Given the description of an element on the screen output the (x, y) to click on. 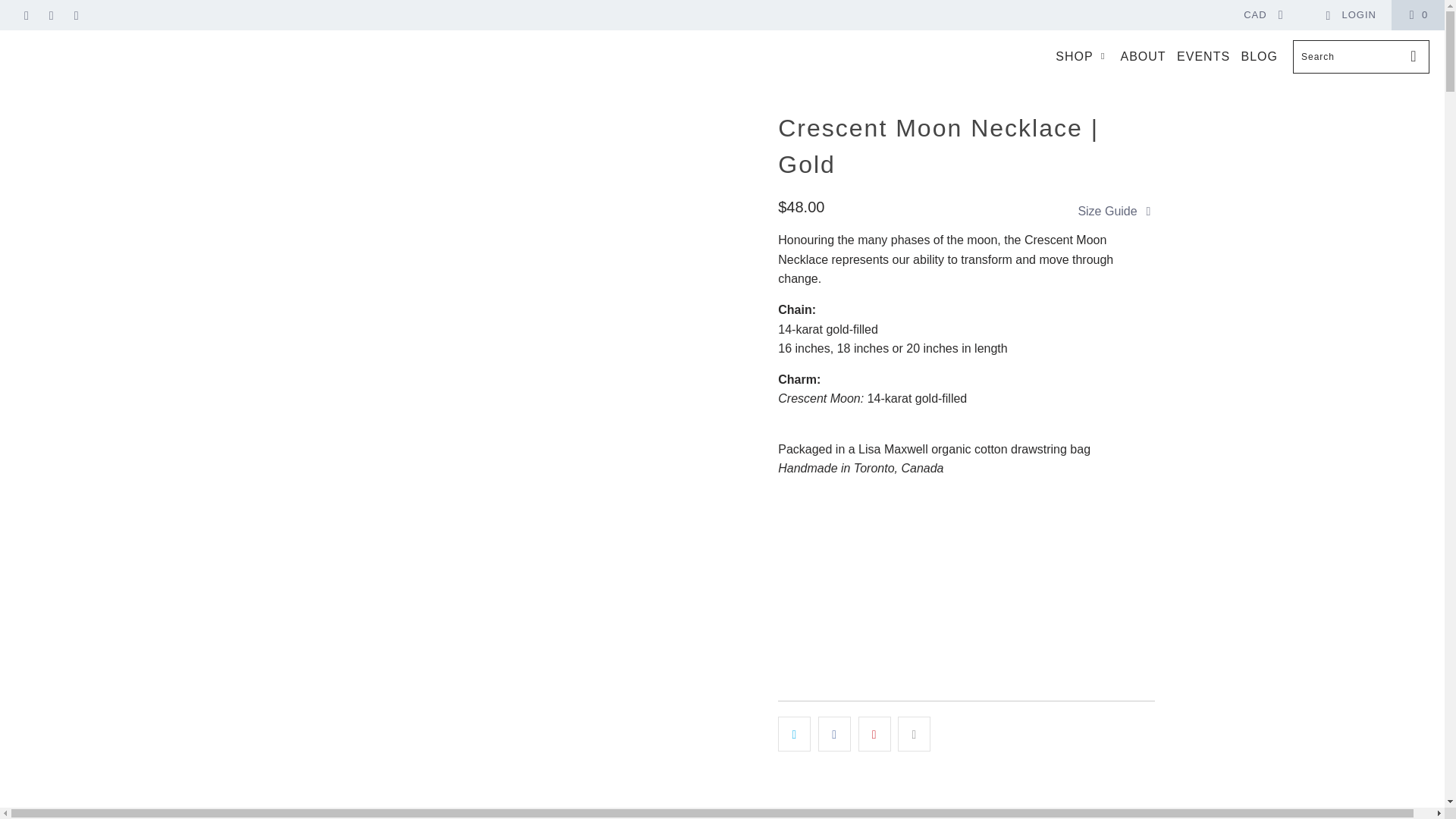
Share this on Facebook (834, 733)
Share this on Pinterest (875, 733)
Lisa Maxwell on Instagram (75, 14)
My Account  (1350, 15)
Share this on Twitter (793, 733)
Lisa Maxwell on Facebook (25, 14)
Lisa Maxwell on Pinterest (50, 14)
Email this to a friend (914, 733)
